Given the description of an element on the screen output the (x, y) to click on. 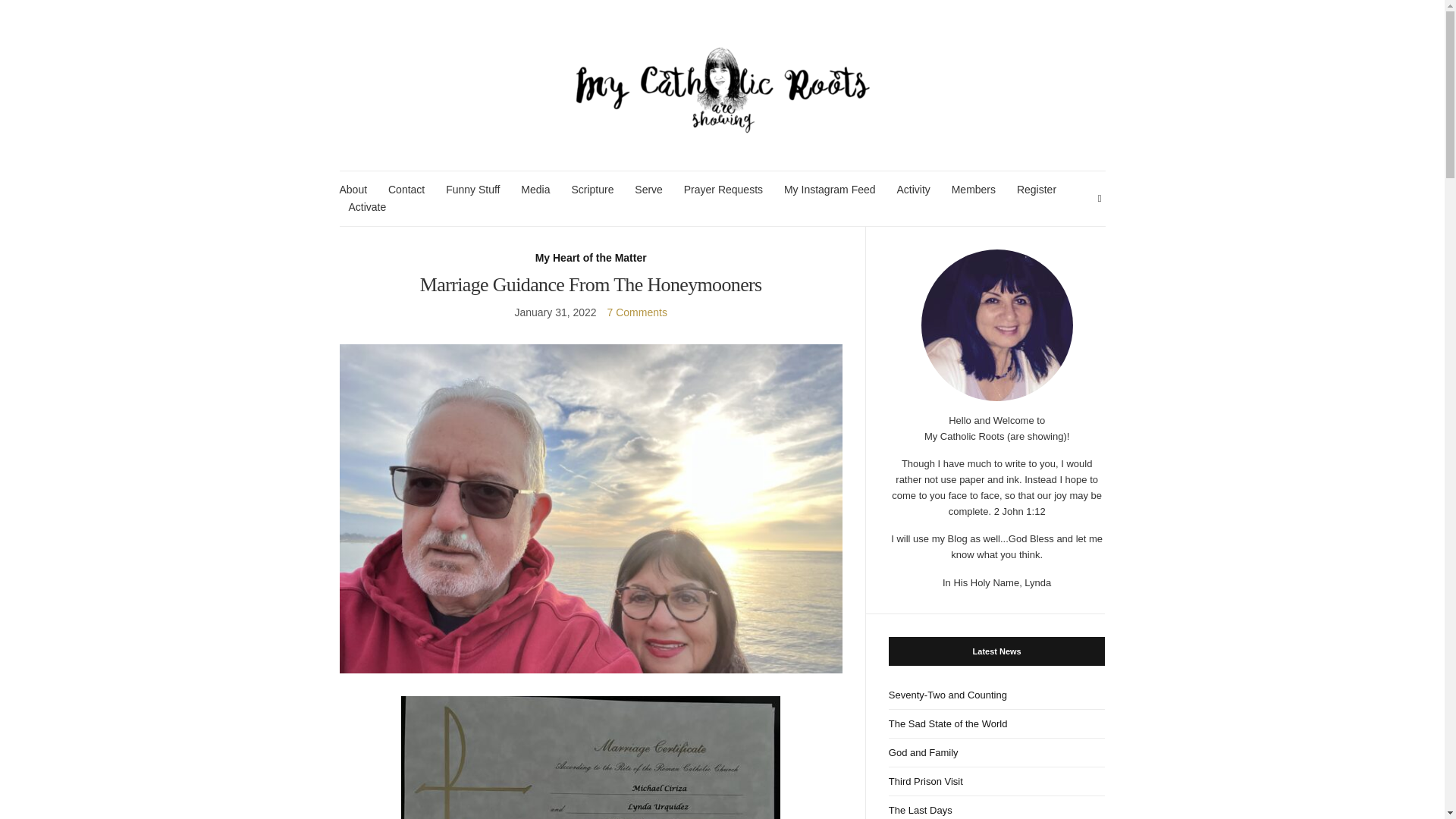
My Instagram Feed (830, 189)
Contact (406, 189)
Members (973, 189)
Third Prison Visit (996, 781)
The Sad State of the World (996, 724)
About (353, 189)
Media (535, 189)
The Last Days (996, 807)
Register (1036, 189)
God and Family (996, 752)
7 Comments (636, 312)
My Heart of the Matter (590, 257)
Serve (648, 189)
Activity (913, 189)
Activate (368, 207)
